Given the description of an element on the screen output the (x, y) to click on. 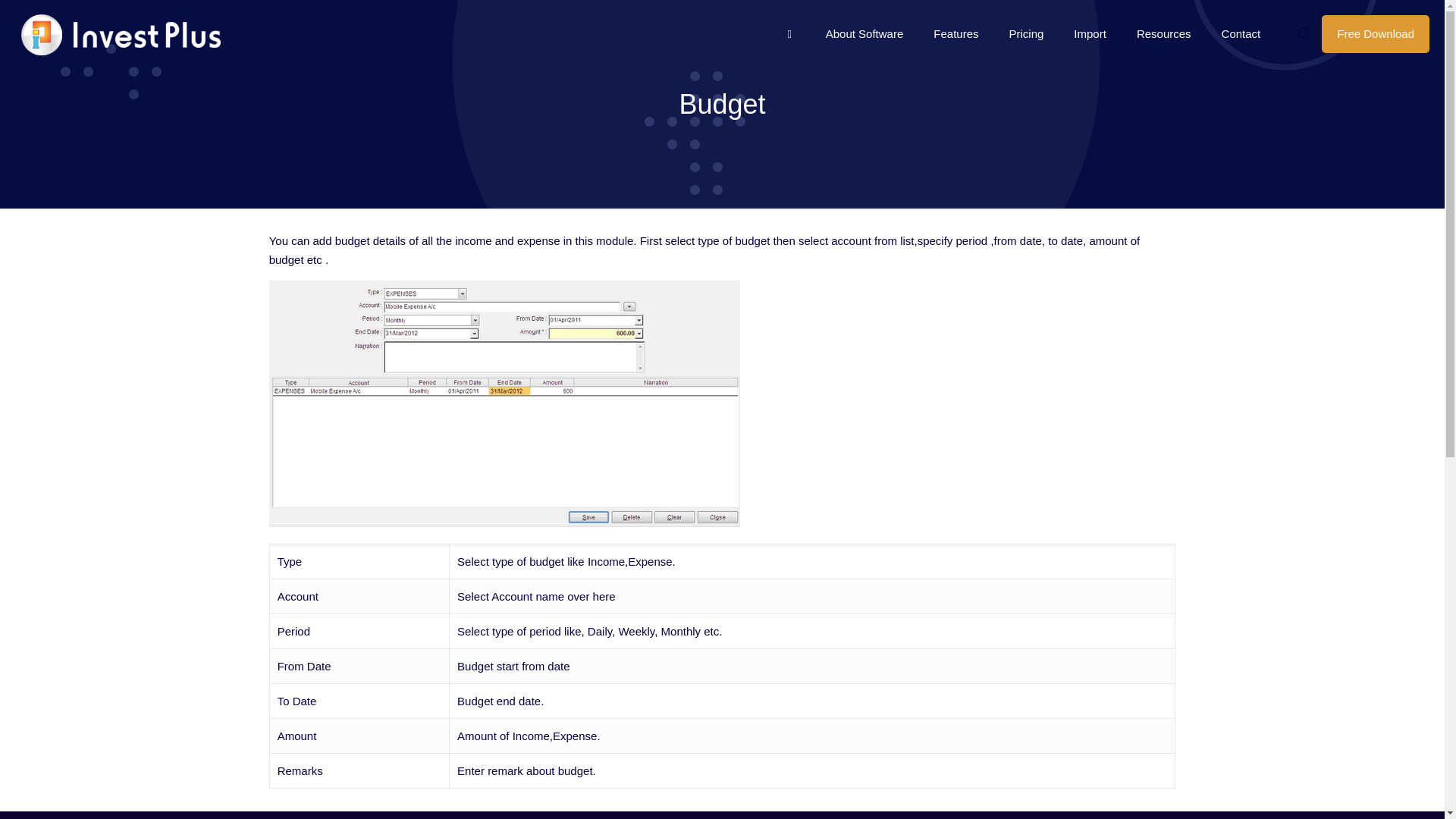
Resources (1164, 33)
Contact (1241, 33)
Import (1089, 33)
Pricing (1025, 33)
Free Download (1375, 34)
Invest Plus (118, 33)
Features (955, 33)
About Software (864, 33)
